Given the description of an element on the screen output the (x, y) to click on. 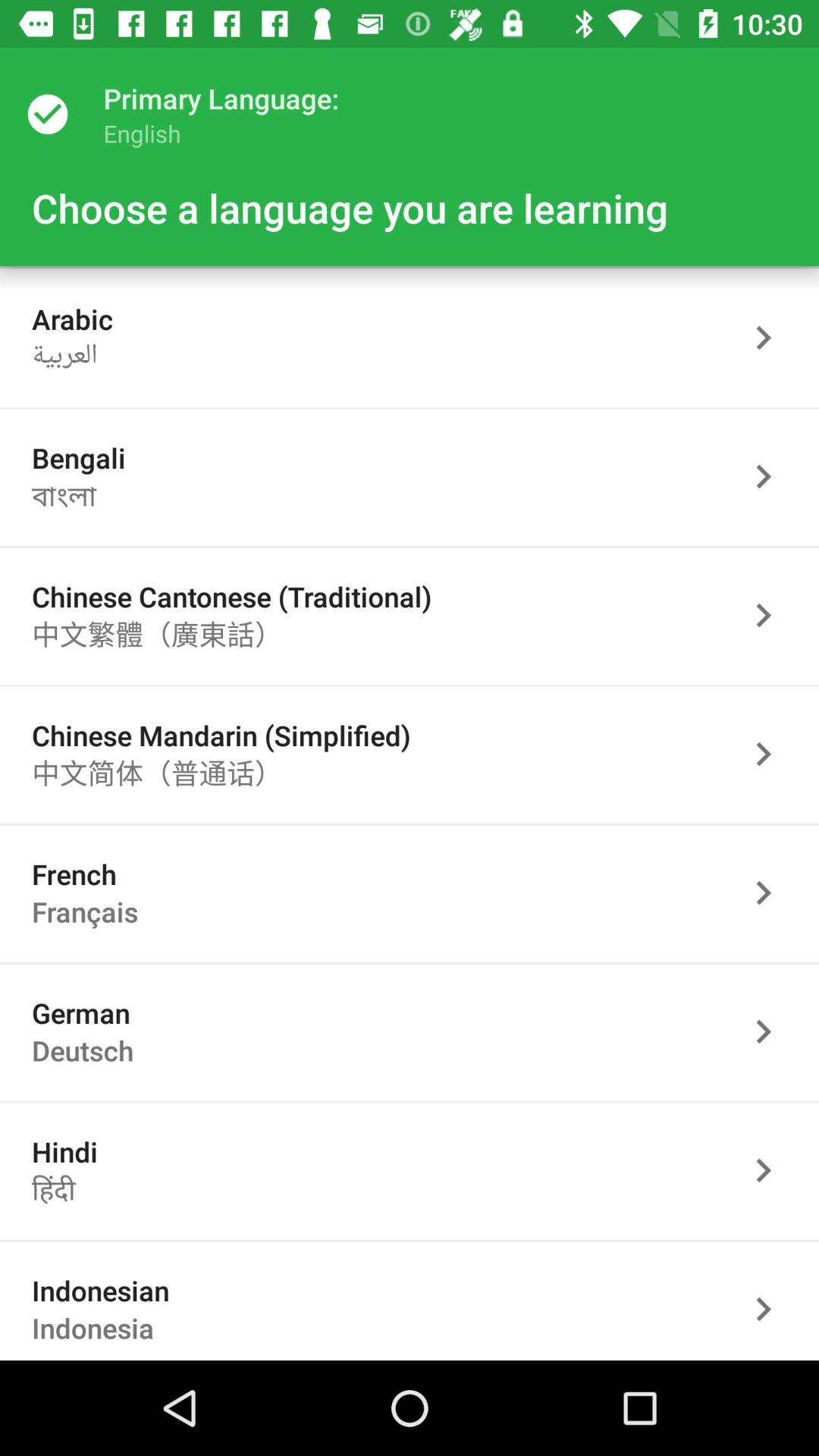
select language (771, 476)
